Given the description of an element on the screen output the (x, y) to click on. 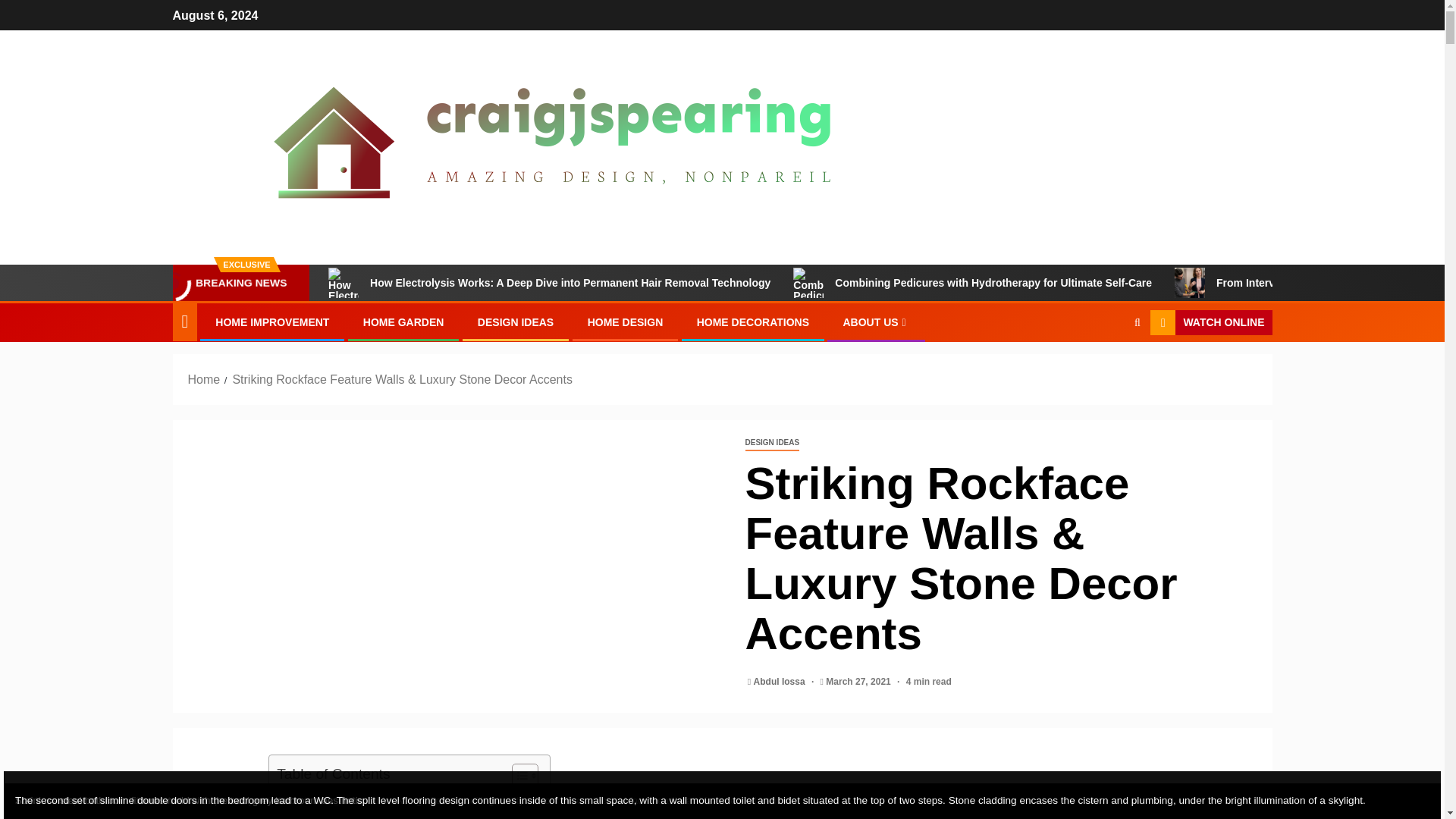
DESIGN IDEAS (771, 442)
HOME GARDEN (403, 322)
HOME DECORATIONS (753, 322)
ABOUT US (875, 322)
Abdul Iossa (781, 681)
HOME DESIGN (625, 322)
DESIGN IDEAS (515, 322)
WATCH ONLINE (1210, 322)
HOME IMPROVEMENT (272, 322)
Combining Pedicures with Hydrotherapy for Ultimate Self-Care (972, 282)
Did you like this article? (342, 812)
Did you like this article? (342, 812)
Search (1107, 369)
